Given the description of an element on the screen output the (x, y) to click on. 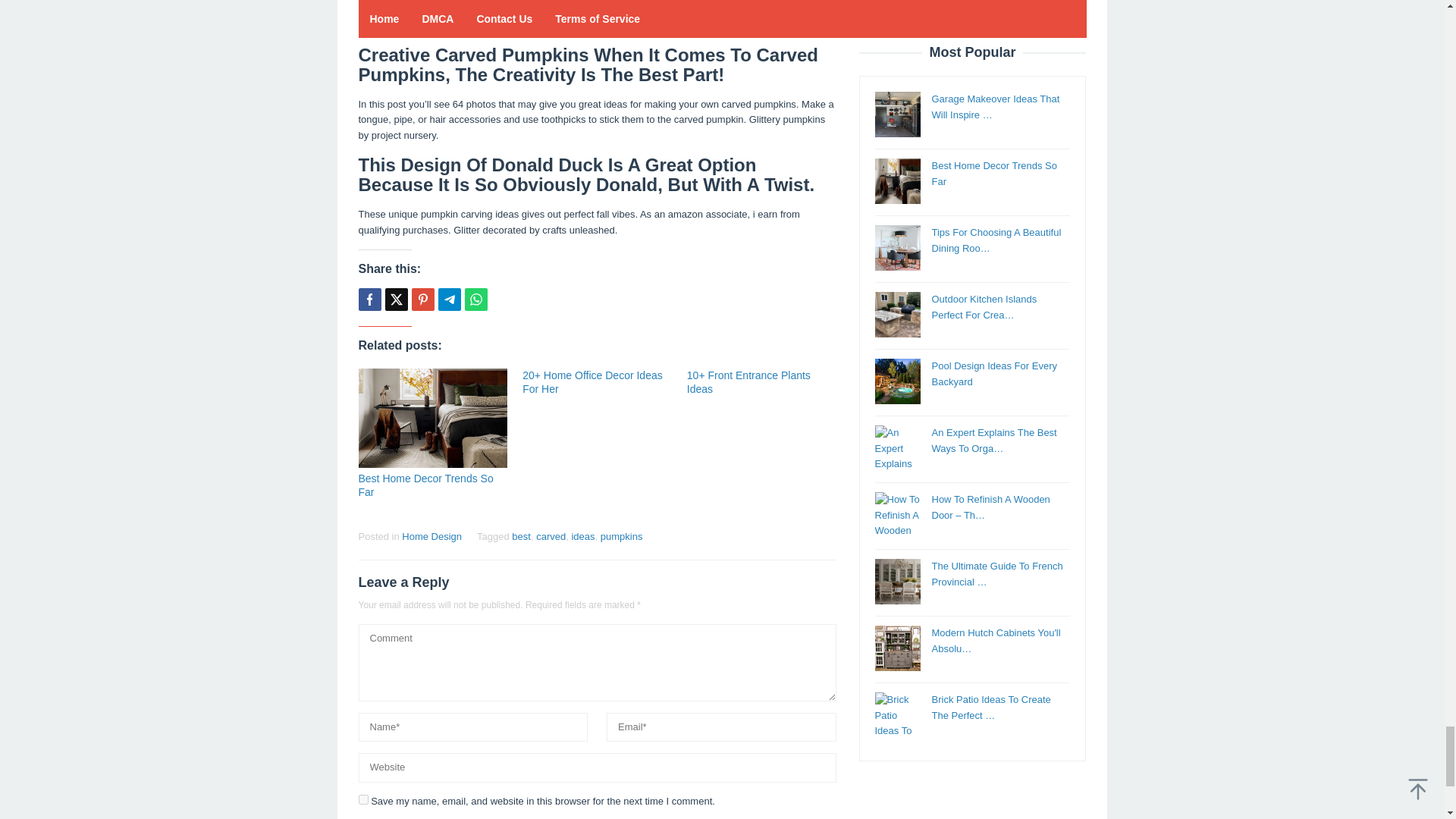
Best Home Decor Trends So Far (425, 484)
Permalink to: Best Home Decor Trends So Far (425, 484)
ideas (582, 536)
Telegram Share (449, 299)
best (521, 536)
yes (363, 799)
Tweet this (396, 299)
Whatsapp (475, 299)
Share this (369, 299)
Home Design (431, 536)
Permalink to: Best Home Decor Trends So Far (432, 417)
carved (550, 536)
Pin this (421, 299)
pumpkins (621, 536)
